Given the description of an element on the screen output the (x, y) to click on. 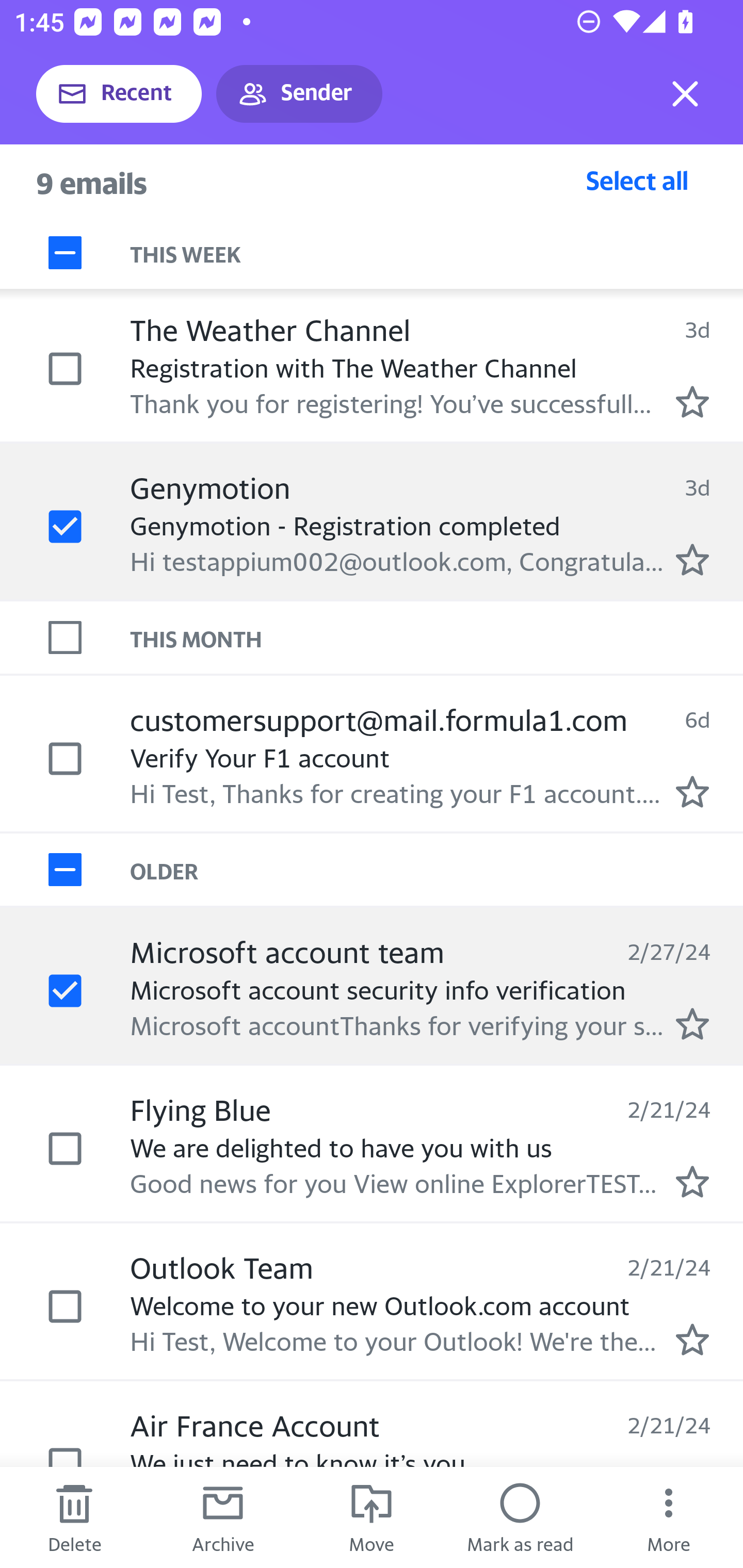
Sender (299, 93)
Exit selection mode (684, 93)
Select all (637, 180)
Mark as starred. (692, 402)
Mark as starred. (692, 558)
THIS MONTH (436, 637)
Mark as starred. (692, 791)
OLDER (436, 869)
Mark as starred. (692, 1023)
Mark as starred. (692, 1181)
Mark as starred. (692, 1339)
Delete (74, 1517)
Archive (222, 1517)
Move (371, 1517)
Mark as read (519, 1517)
More (668, 1517)
